Given the description of an element on the screen output the (x, y) to click on. 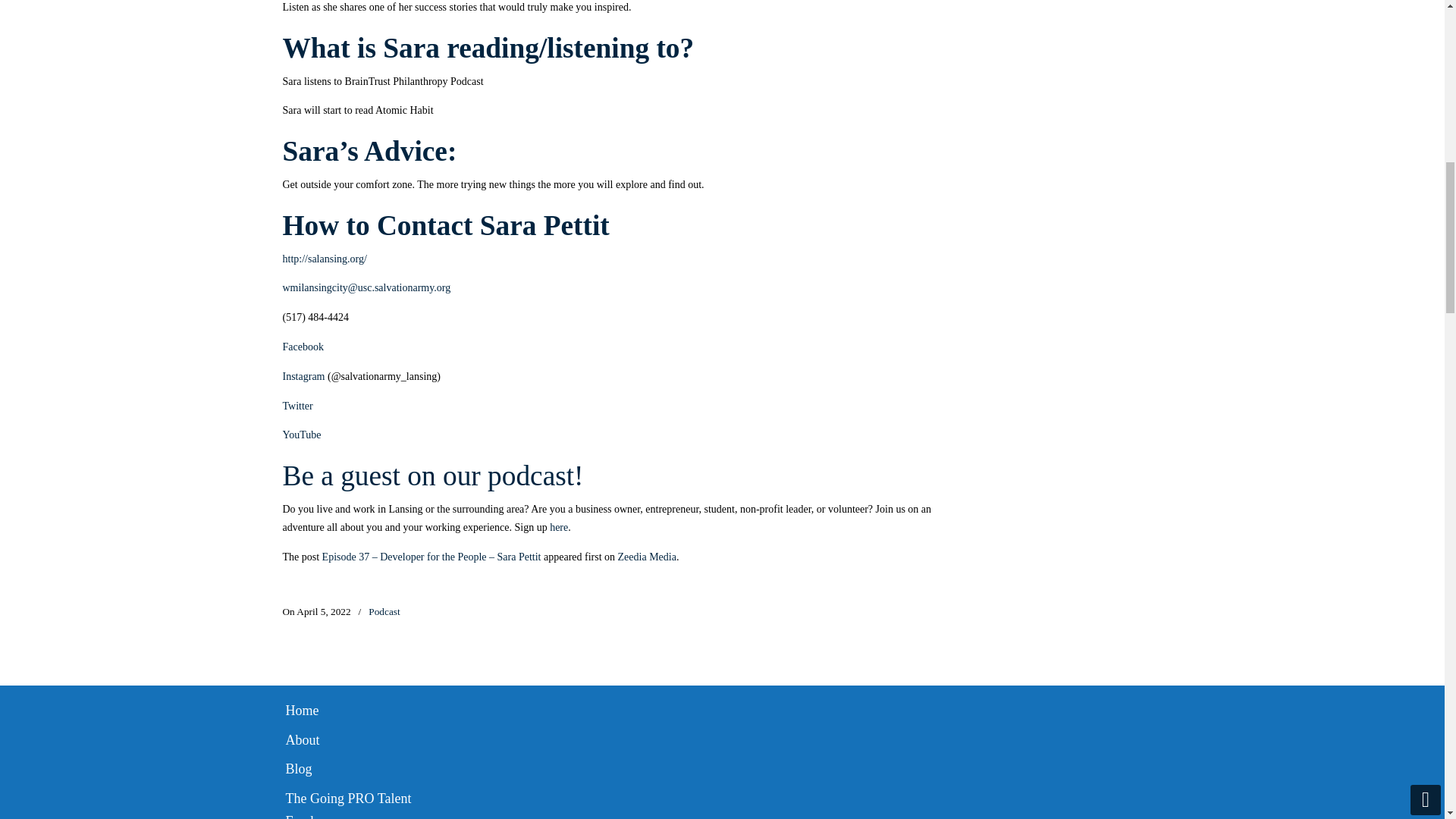
Instagram (303, 376)
Twitter (297, 405)
here (558, 527)
YouTube (301, 434)
Facebook (302, 346)
Zeedia Media (647, 556)
Podcast (383, 611)
